Given the description of an element on the screen output the (x, y) to click on. 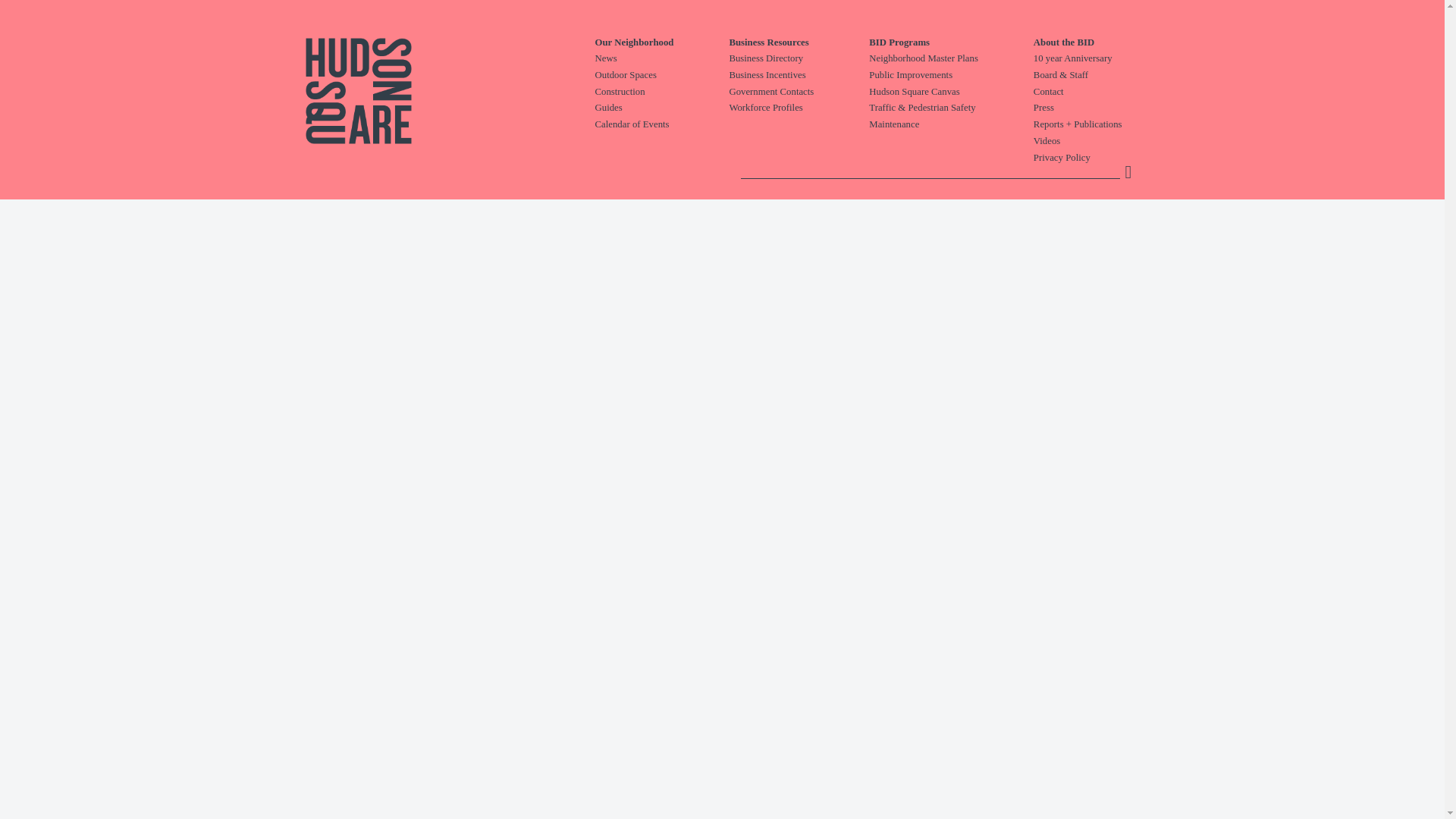
News (661, 59)
Outdoor Spaces (661, 75)
Maintenance (951, 124)
Videos (1105, 141)
Hudson Square Canvas (951, 92)
Contact (1105, 92)
Business Incentives (799, 75)
About the BID (1105, 42)
Calendar of Events (661, 124)
Business Directory (799, 59)
